Given the description of an element on the screen output the (x, y) to click on. 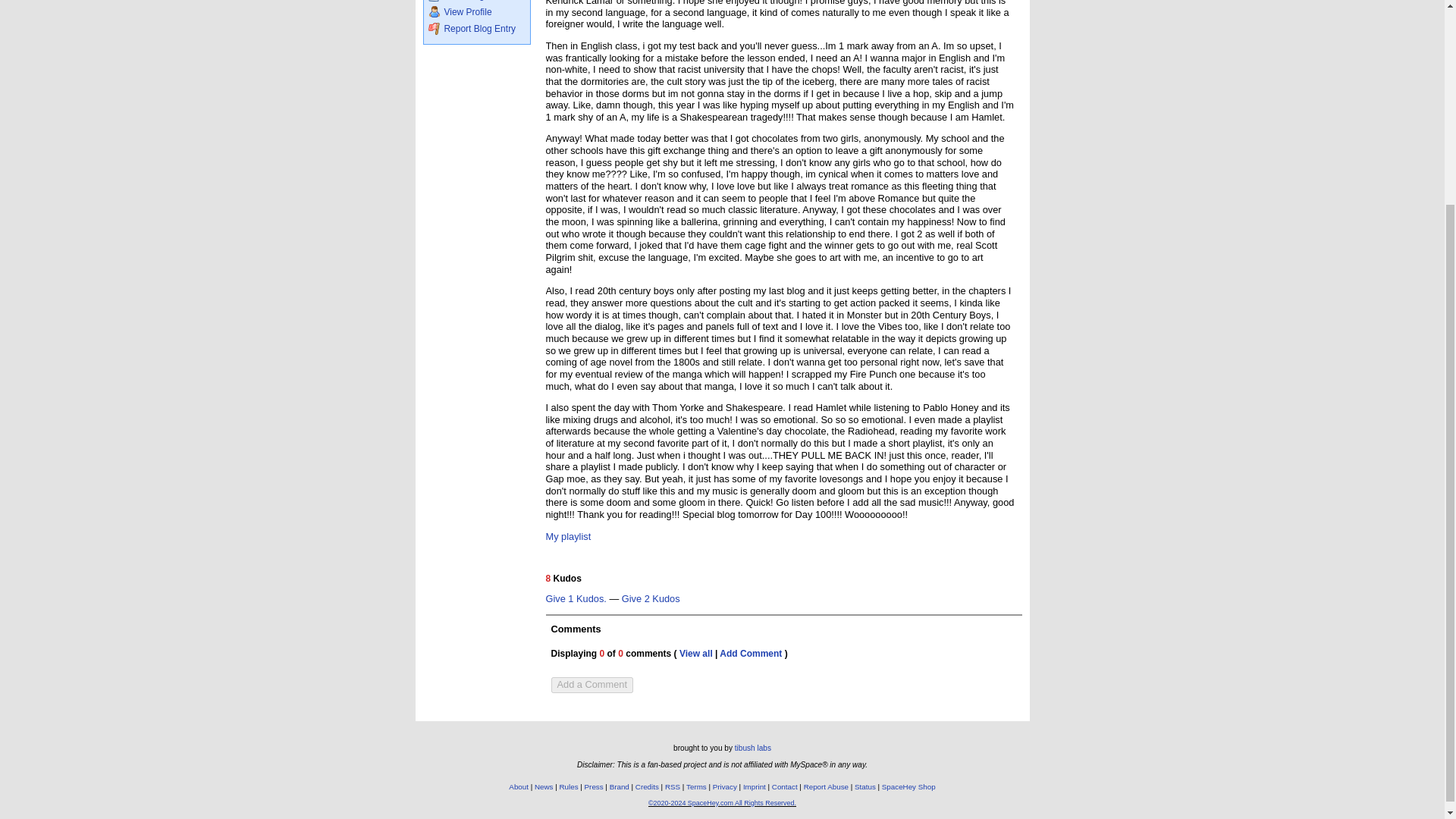
Terms (695, 786)
Report Blog Entry (476, 28)
Add a Comment (590, 684)
Rules (568, 786)
Add a Comment (590, 684)
RSS (672, 786)
Credits (646, 786)
Brand (619, 786)
View Profile (476, 11)
About (518, 786)
Give 1 Kudos. (576, 599)
View Blog (476, 0)
News (543, 786)
Give 2 Kudos (650, 599)
tibush labs (753, 747)
